Given the description of an element on the screen output the (x, y) to click on. 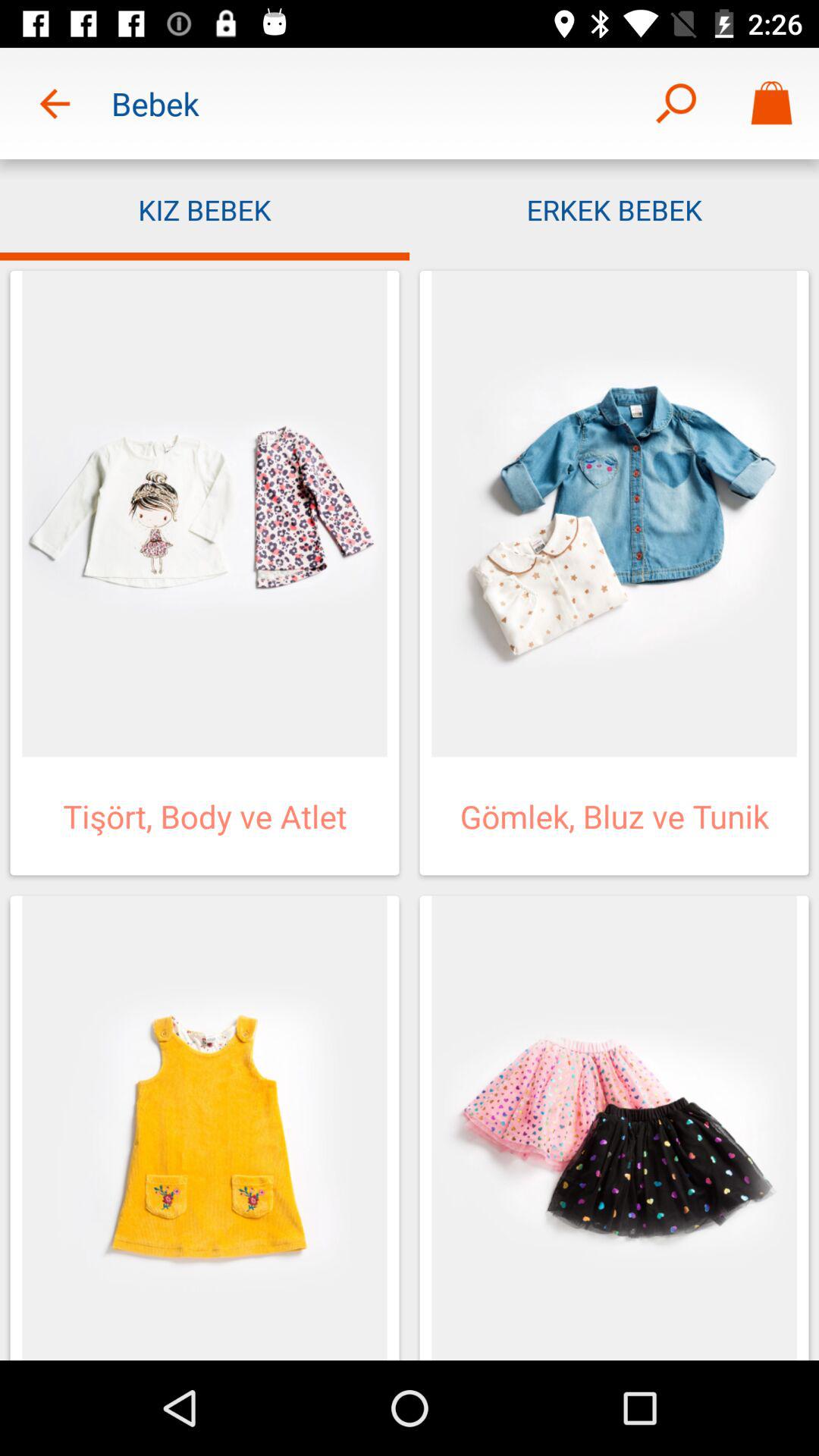
jump until the erkek bebek app (614, 209)
